Given the description of an element on the screen output the (x, y) to click on. 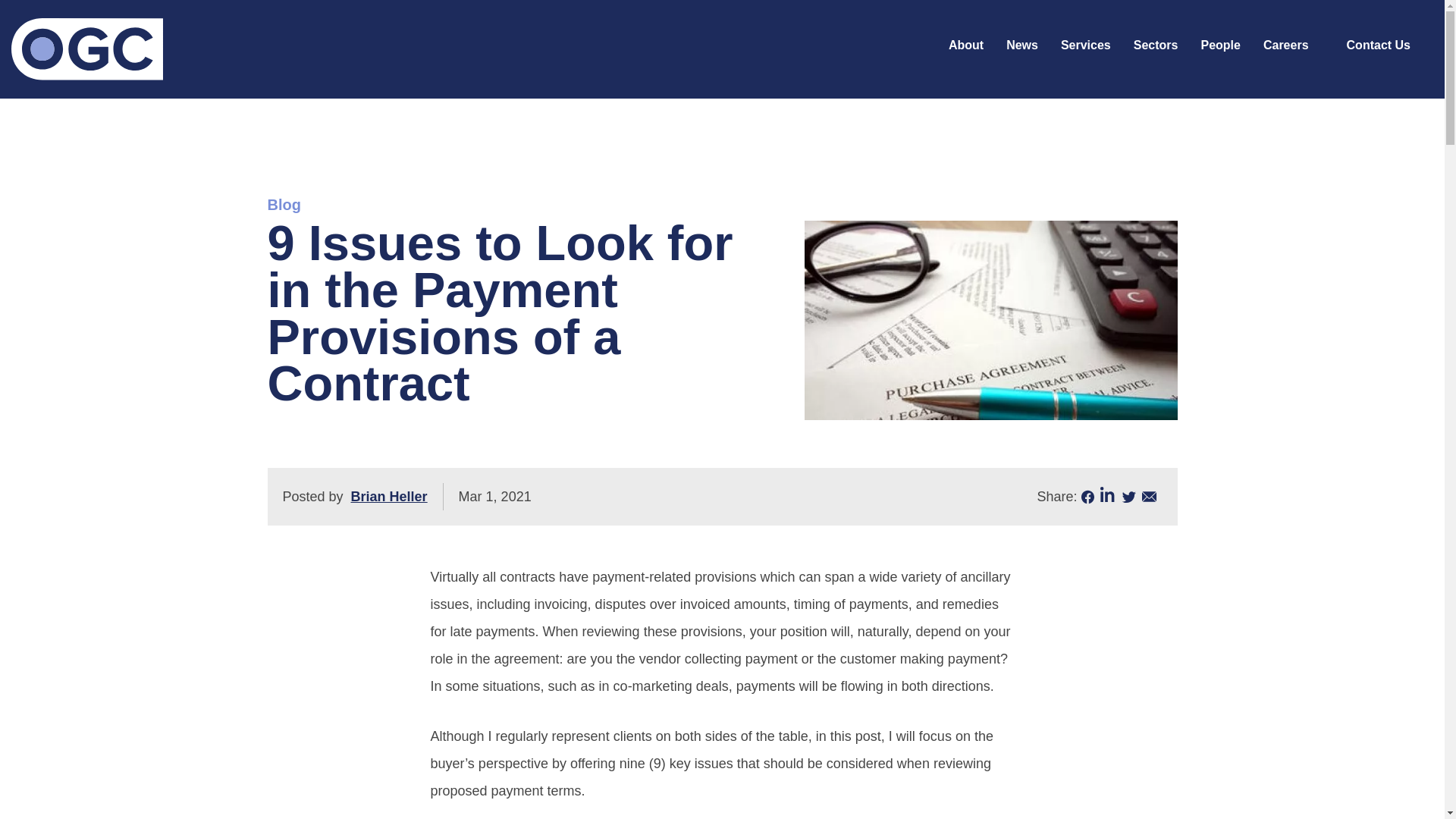
homepage (87, 49)
Contact Us (1377, 45)
Sectors (1155, 45)
Services (1085, 45)
People (1219, 45)
Careers (1286, 45)
News (1021, 45)
Brian Heller (389, 496)
About (965, 45)
